Given the description of an element on the screen output the (x, y) to click on. 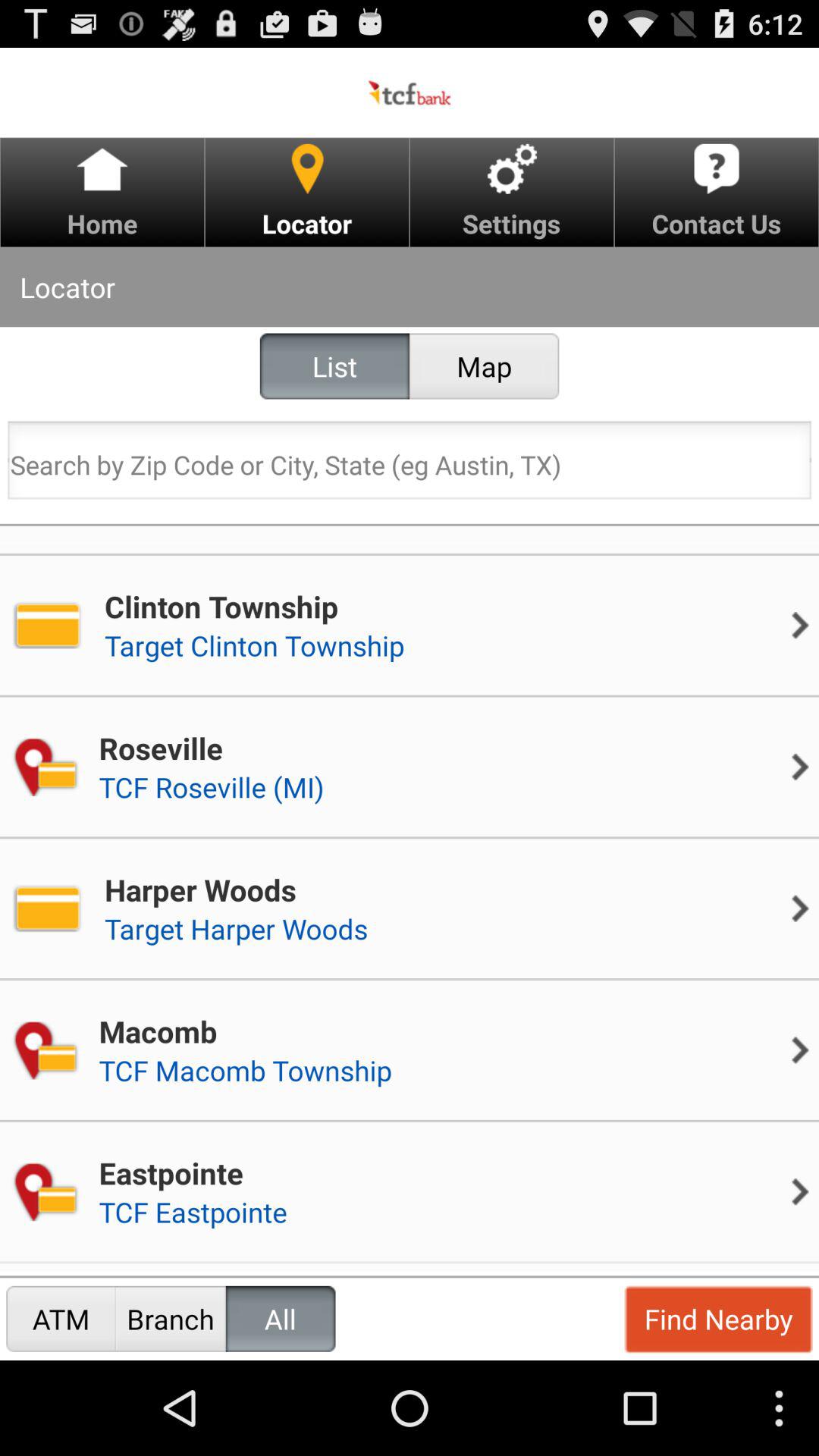
open map item (484, 366)
